Given the description of an element on the screen output the (x, y) to click on. 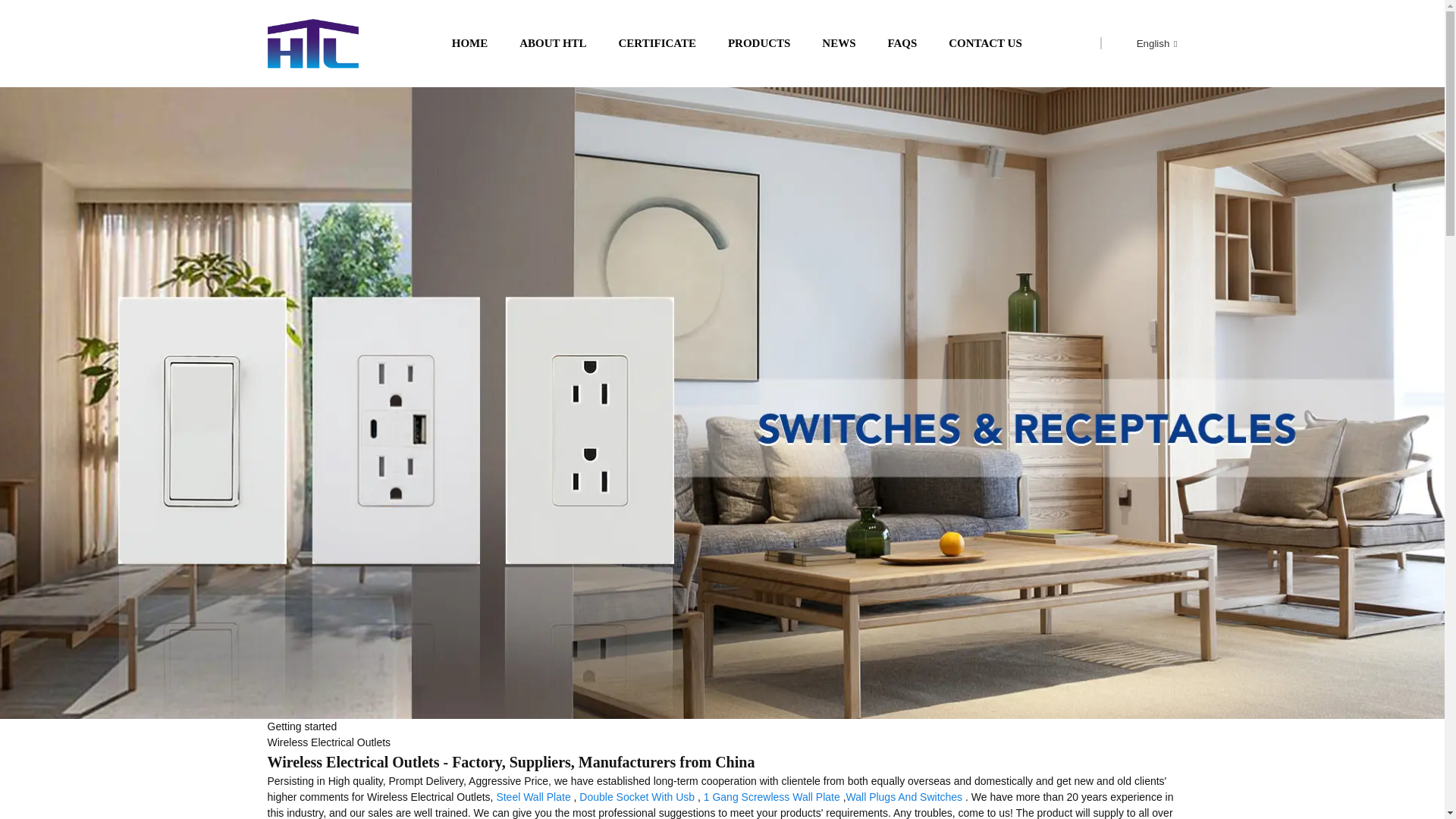
CERTIFICATE (657, 43)
Wall Plugs And Switches (903, 797)
Steel Wall Plate (533, 797)
Steel Wall Plate (533, 797)
ABOUT HTL (552, 43)
PRODUCTS (759, 43)
English (1144, 43)
Double Socket With Usb (636, 797)
Getting started (301, 726)
Double Socket With Usb (636, 797)
